Given the description of an element on the screen output the (x, y) to click on. 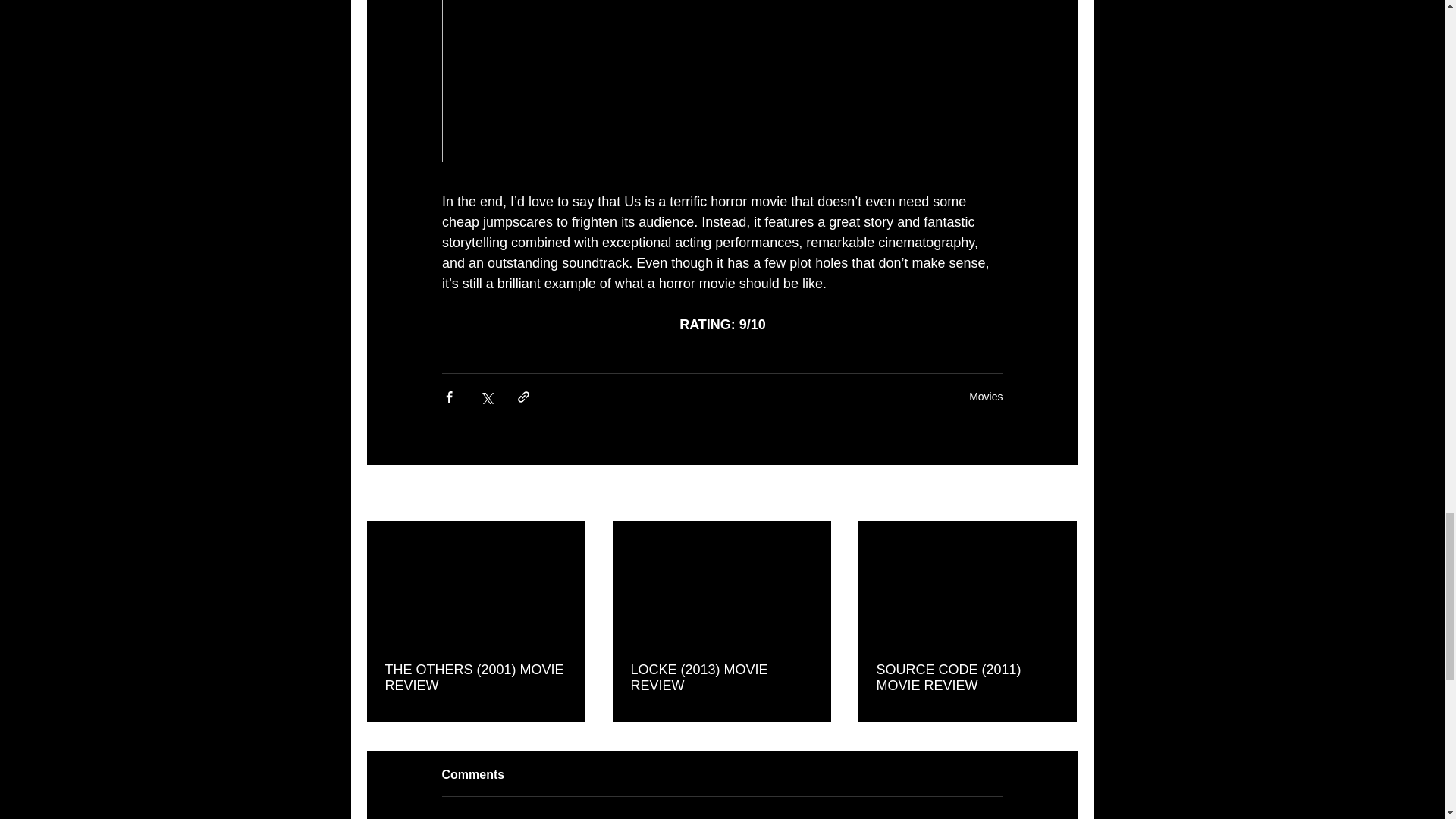
See All (1061, 494)
Movies (986, 396)
